Given the description of an element on the screen output the (x, y) to click on. 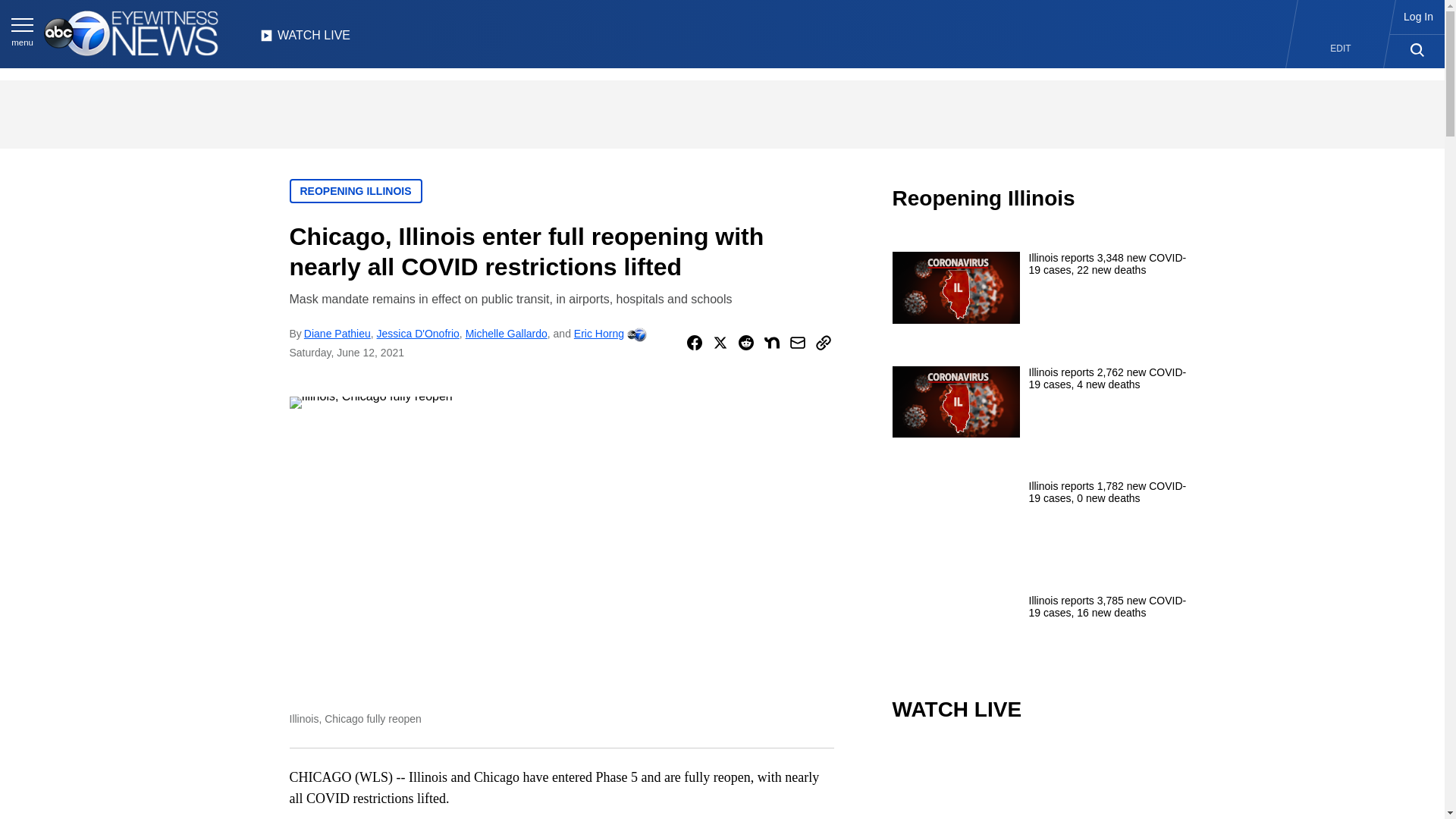
WATCH LIVE (305, 39)
EDIT (1340, 48)
video.title (1043, 781)
